Given the description of an element on the screen output the (x, y) to click on. 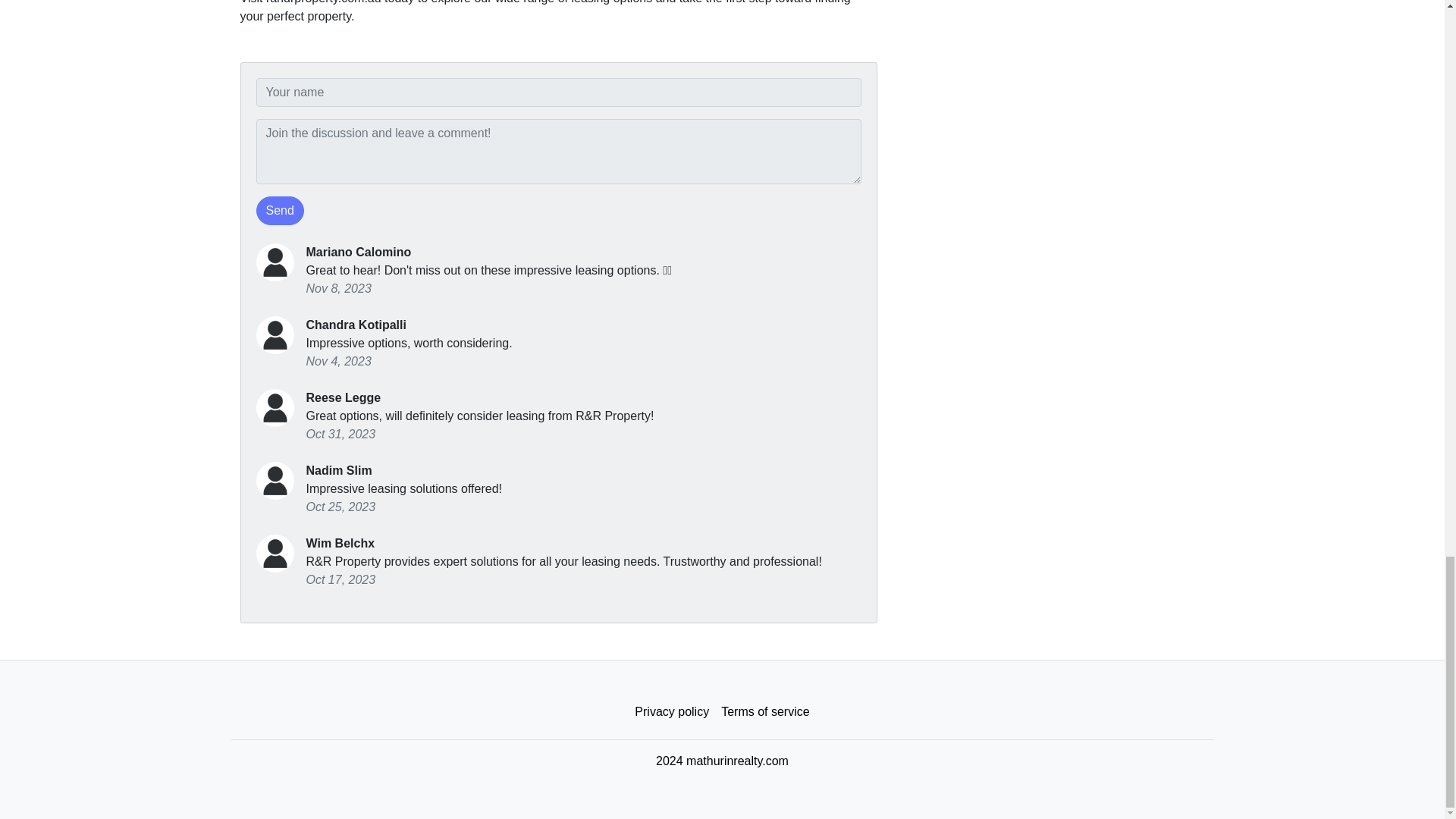
Send (280, 210)
Privacy policy (671, 711)
Send (280, 210)
Terms of service (764, 711)
